Given the description of an element on the screen output the (x, y) to click on. 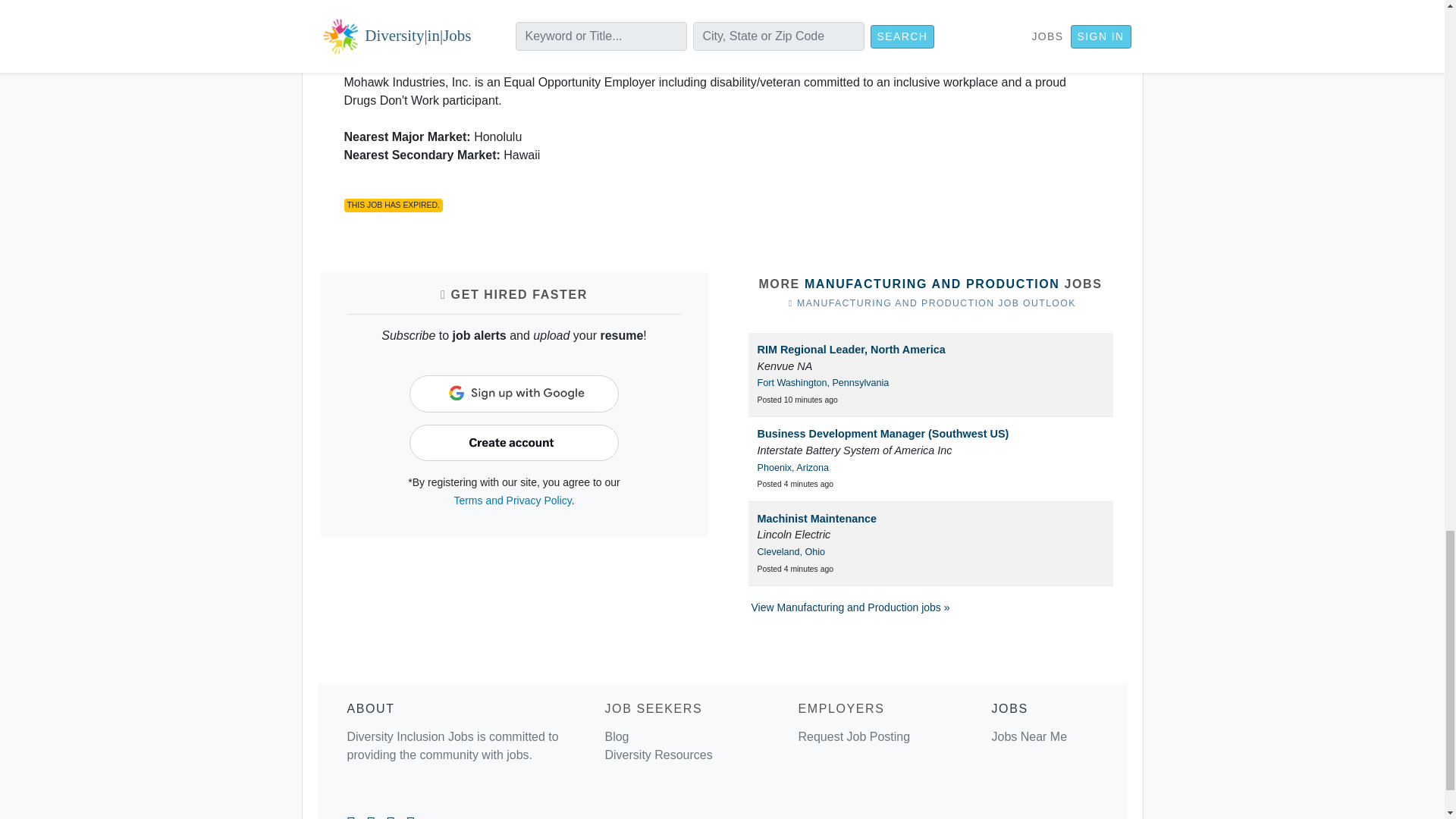
Diversity Resources (657, 754)
Cleveland, Ohio (791, 552)
Blog (616, 736)
ABOUT (370, 707)
Phoenix, Arizona (792, 467)
Terms and Privacy Policy (511, 500)
